Given the description of an element on the screen output the (x, y) to click on. 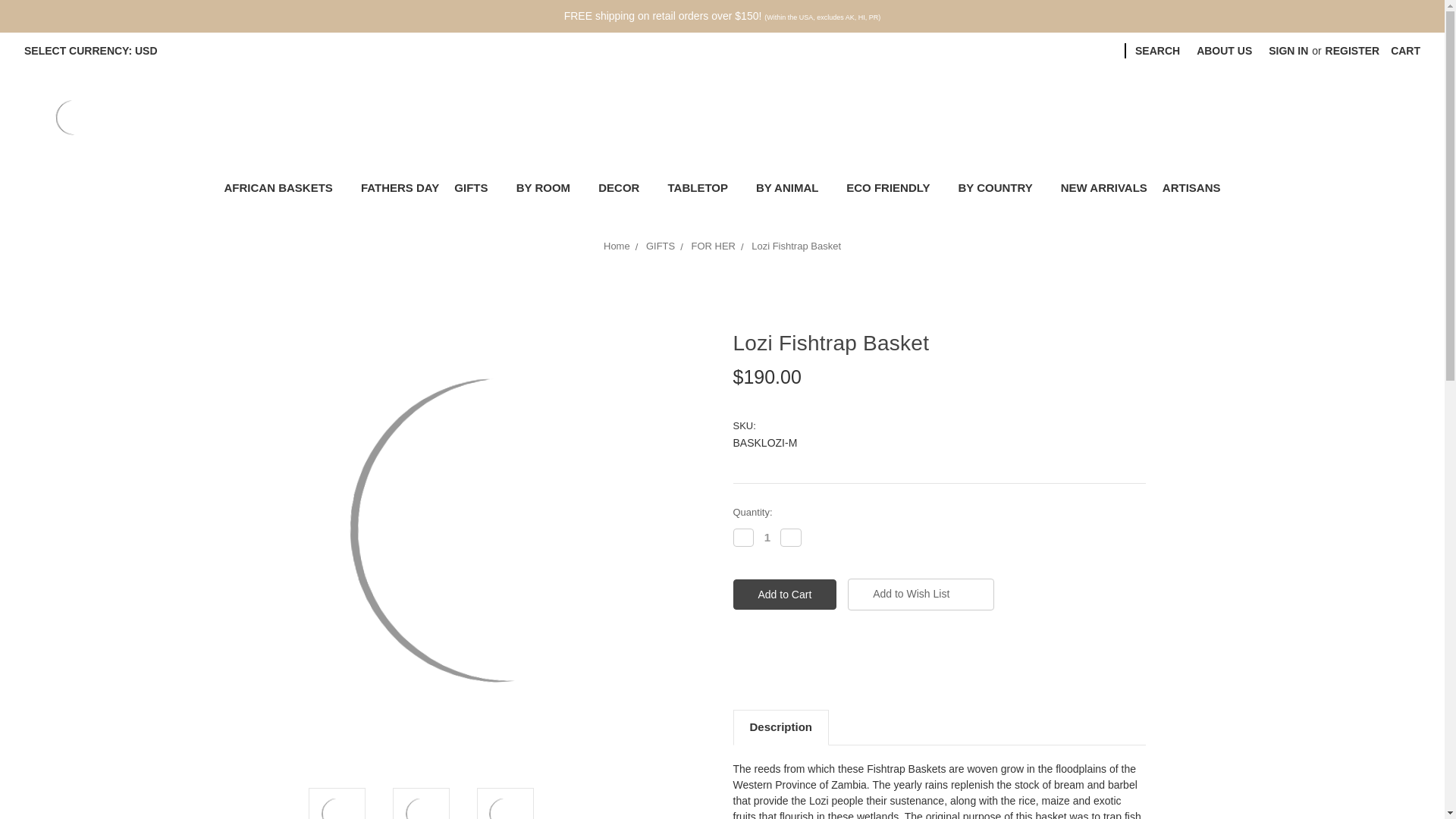
GIFTS (477, 188)
CART (1404, 50)
REGISTER (1353, 50)
Fishtrap basket from Zambia (337, 806)
Fish trap basket with metal stand included. (422, 806)
Add to Cart (783, 594)
SEARCH (1157, 50)
AFRICAN BASKETS (284, 188)
SIGN IN (1288, 50)
FATHERS DAY (399, 188)
SELECT CURRENCY: USD (96, 50)
Detail of weaving of fishtrap basket. (505, 806)
1 (767, 536)
ABOUT US (1224, 50)
